Given the description of an element on the screen output the (x, y) to click on. 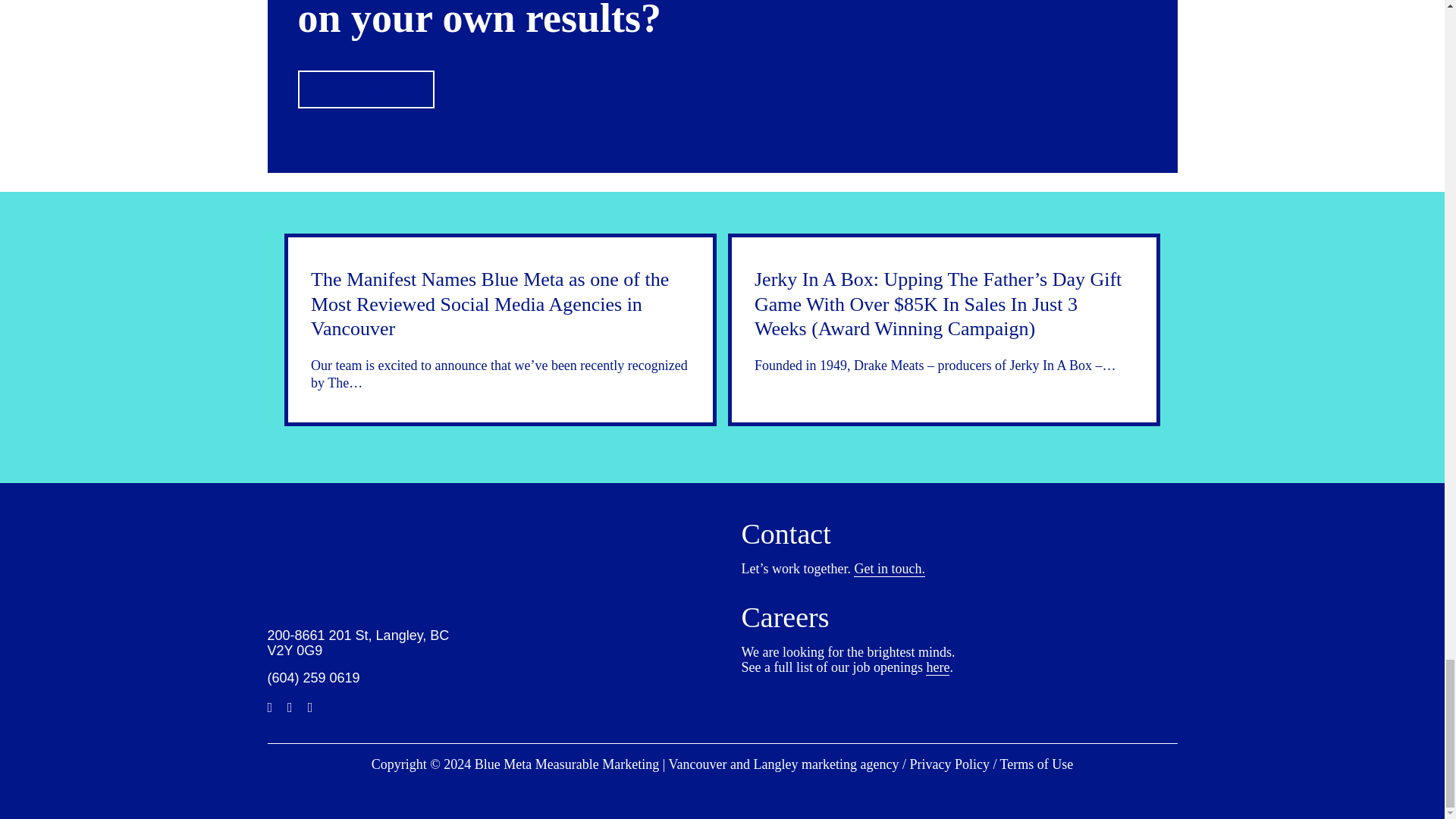
GET IN TOUCH (365, 89)
